Given the description of an element on the screen output the (x, y) to click on. 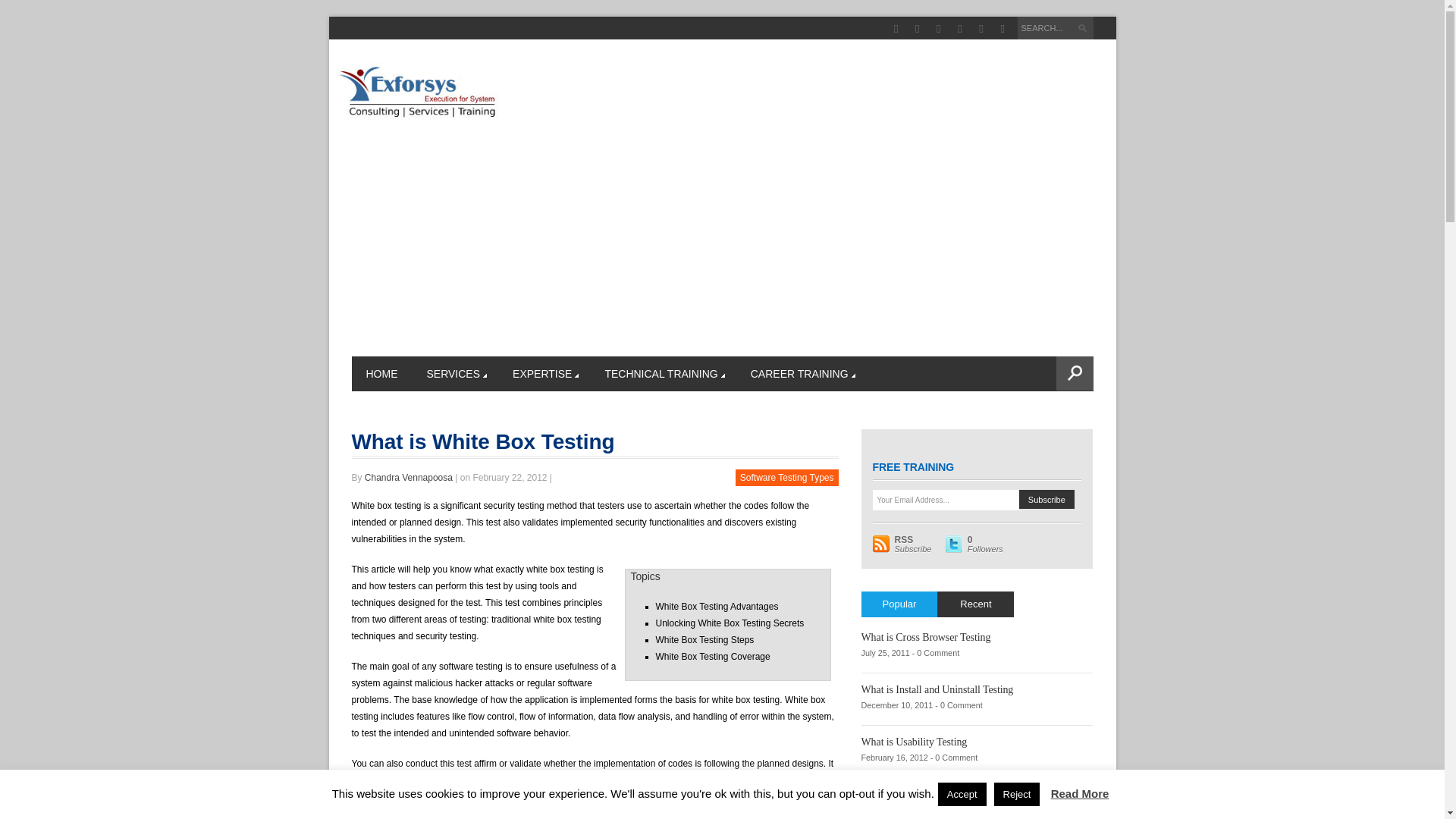
Search (1084, 30)
Your Email Address... (945, 499)
What is Black Box Testing (917, 794)
Search (1084, 30)
Linkedin (960, 29)
RSS (1002, 29)
SEARCH... (1055, 27)
Search (1084, 30)
Twitter (937, 29)
What is Cross Browser Testing (926, 636)
Subscribe (1046, 498)
Facebook (895, 29)
Posts by Chandra Vennapoosa (408, 477)
Pinterest (981, 29)
